Given the description of an element on the screen output the (x, y) to click on. 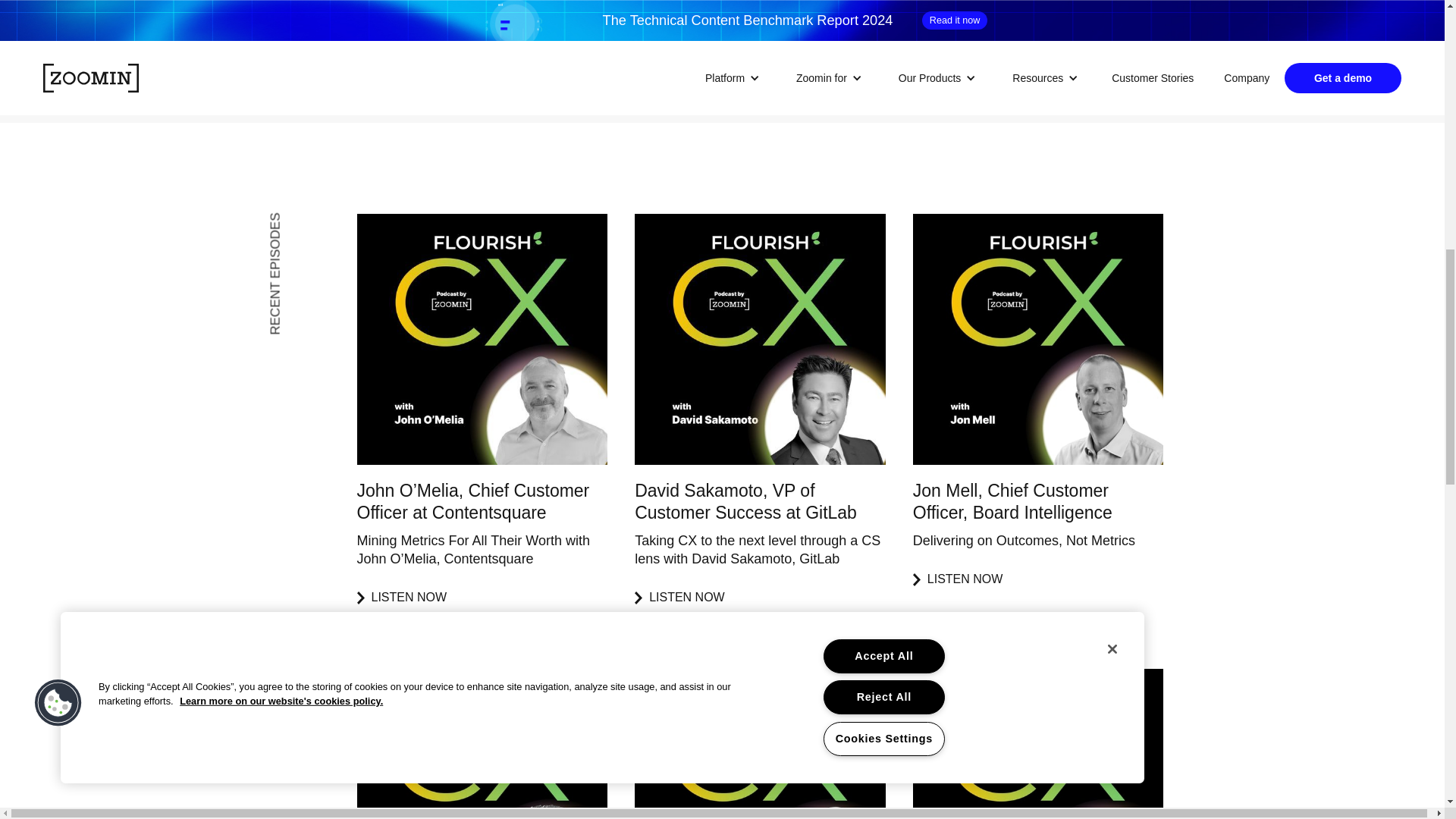
LISTEN NOW (481, 597)
